Given the description of an element on the screen output the (x, y) to click on. 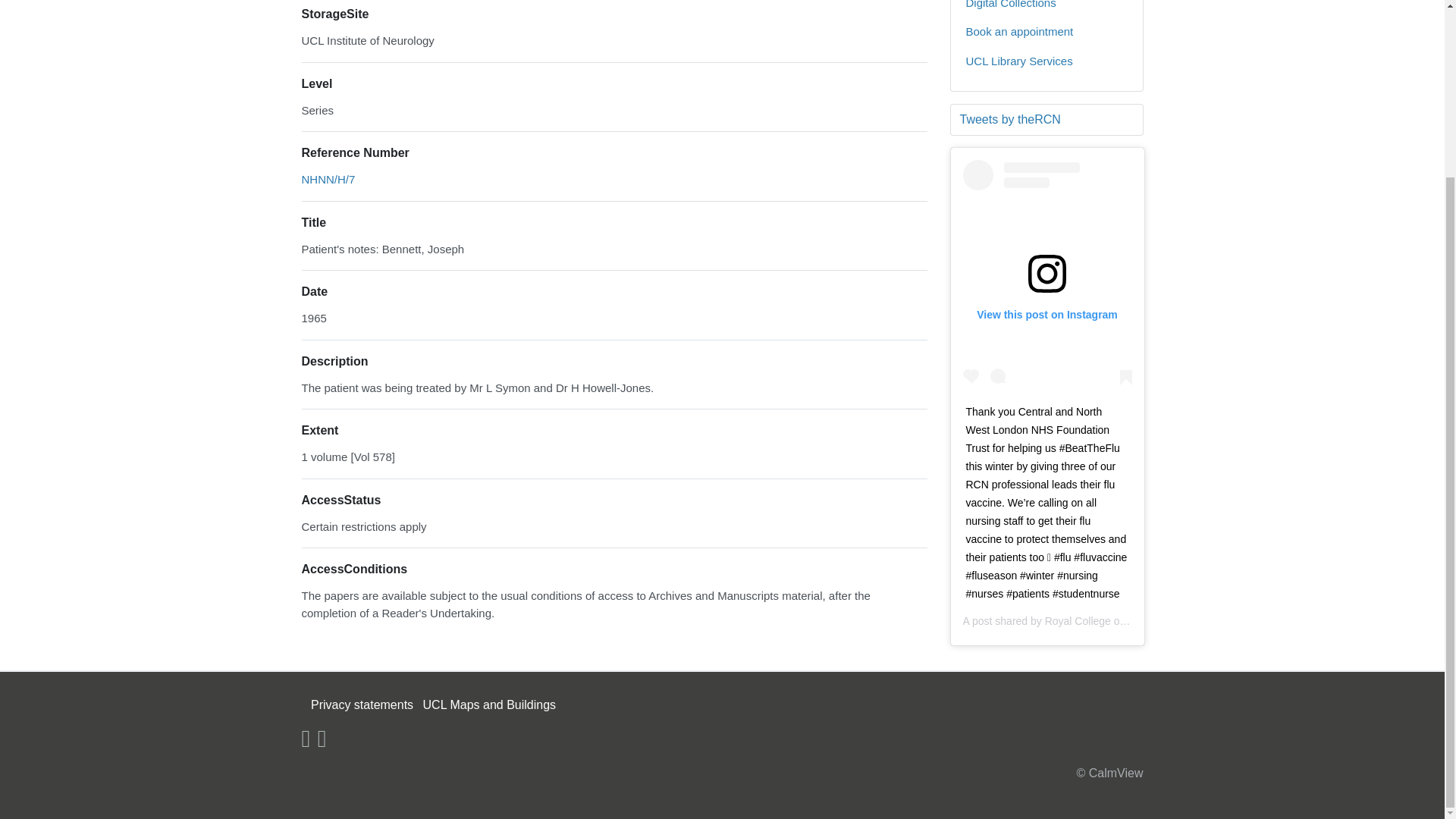
UCL Maps and Buildings (489, 704)
Tweets by theRCN (1046, 119)
Digital Collections (1046, 9)
UCL Library Services (1046, 61)
Privacy statements (362, 704)
Browse record in hierarchy. (328, 178)
Book an appointment (1046, 31)
Royal College of Nursing (1103, 621)
